Given the description of an element on the screen output the (x, y) to click on. 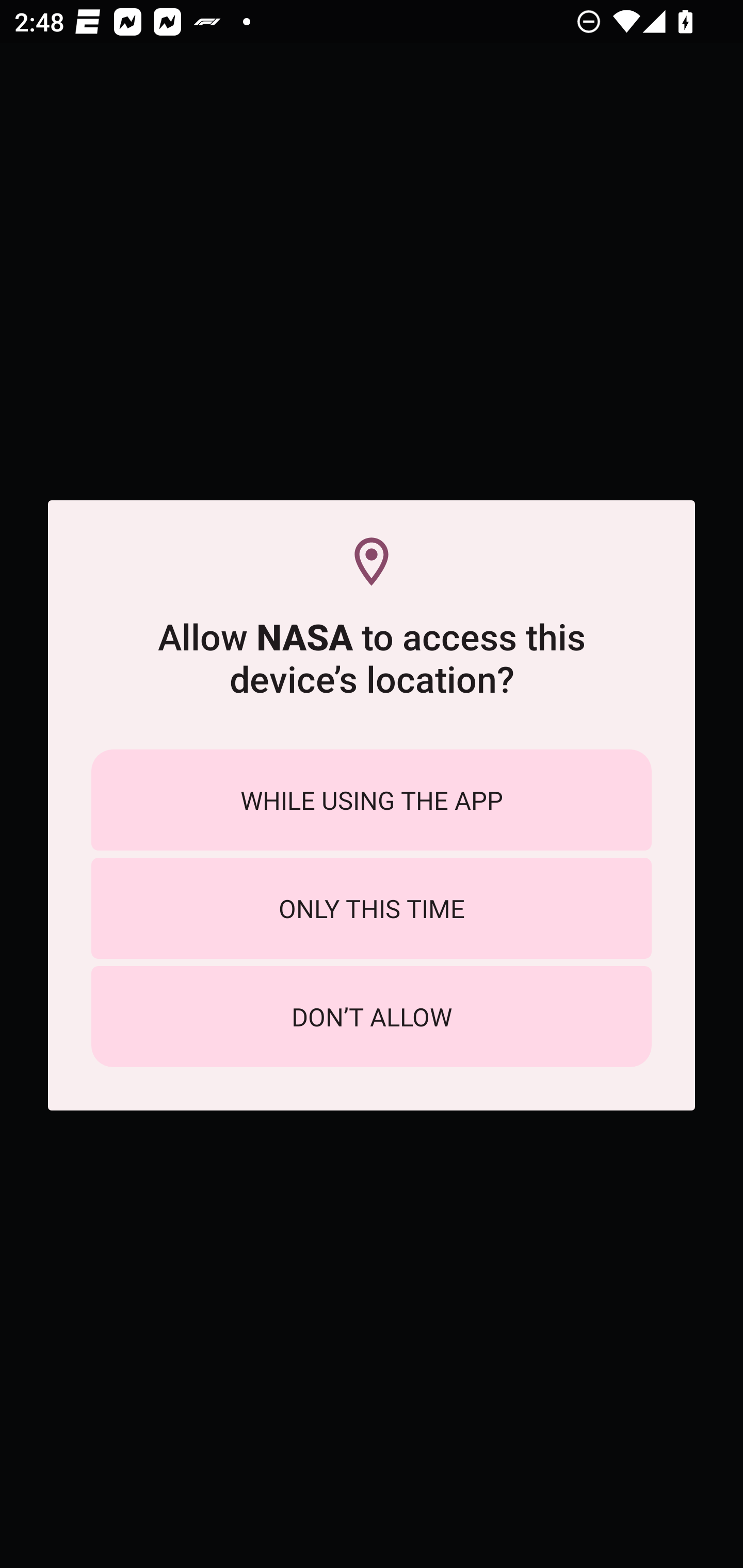
WHILE USING THE APP (371, 799)
ONLY THIS TIME (371, 908)
DON’T ALLOW (371, 1016)
